Given the description of an element on the screen output the (x, y) to click on. 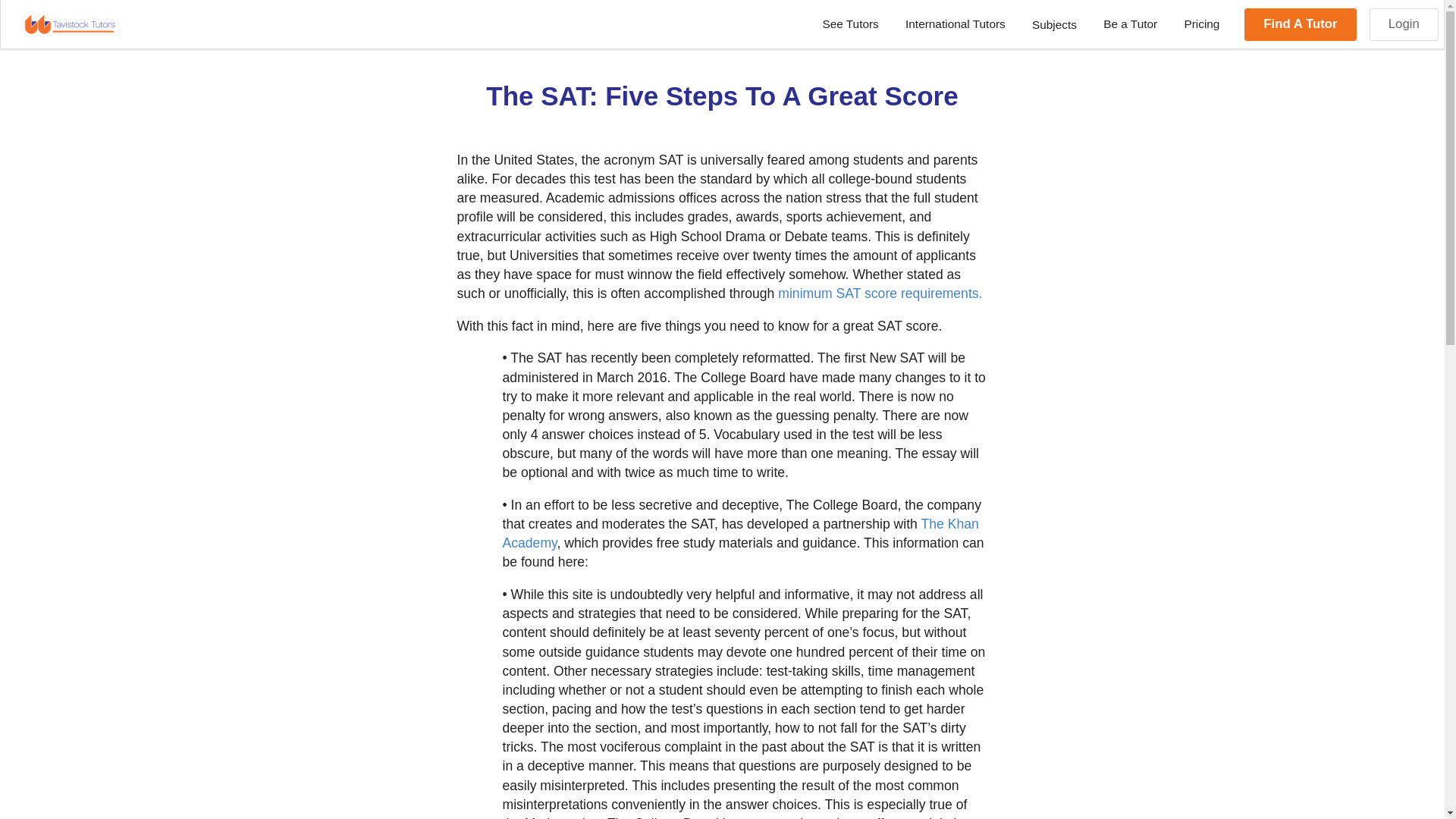
Subjects (1053, 23)
International Tutors (954, 24)
See Tutors (850, 24)
